Given the description of an element on the screen output the (x, y) to click on. 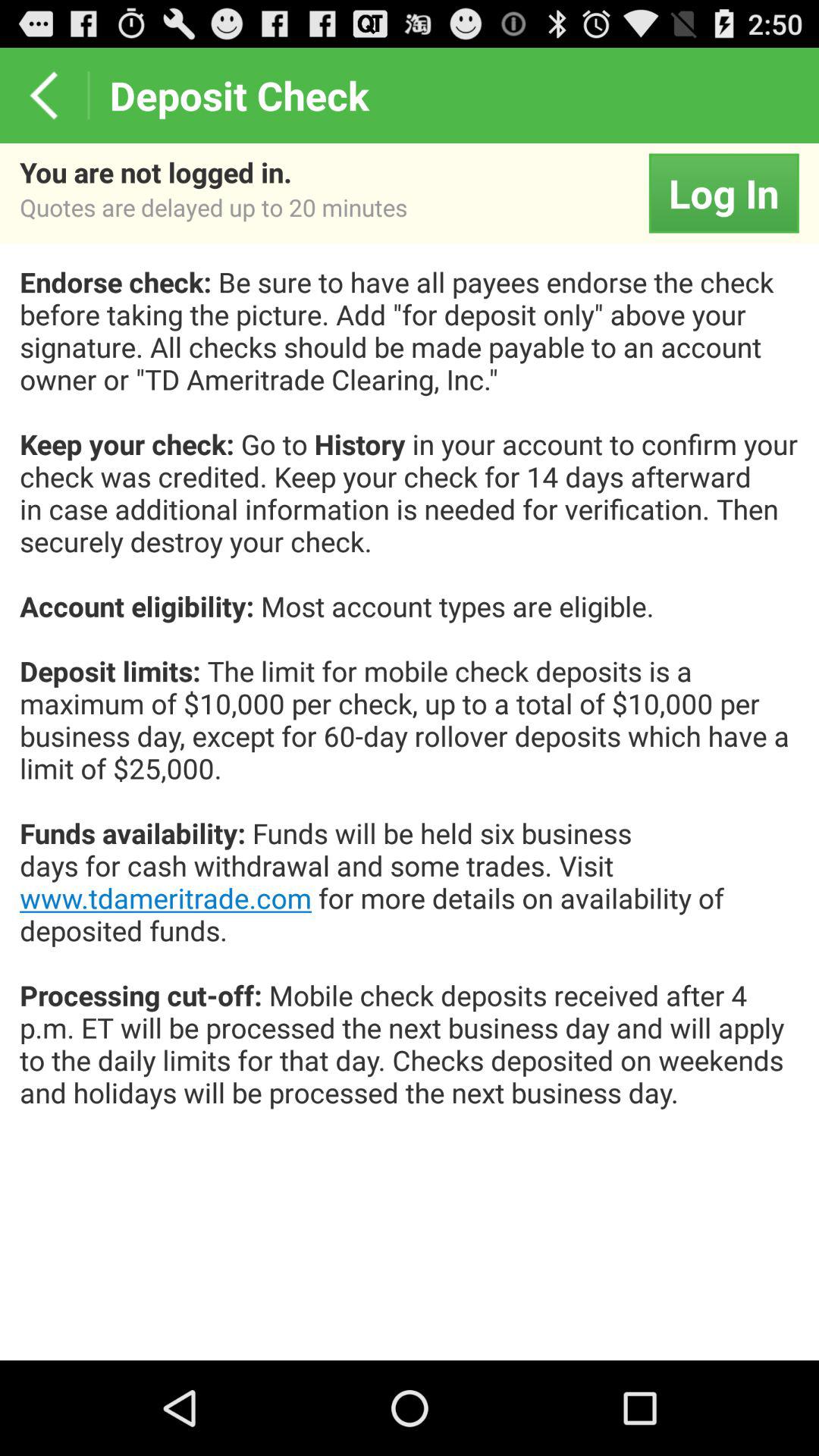
click icon to the right of the you are not (723, 193)
